Given the description of an element on the screen output the (x, y) to click on. 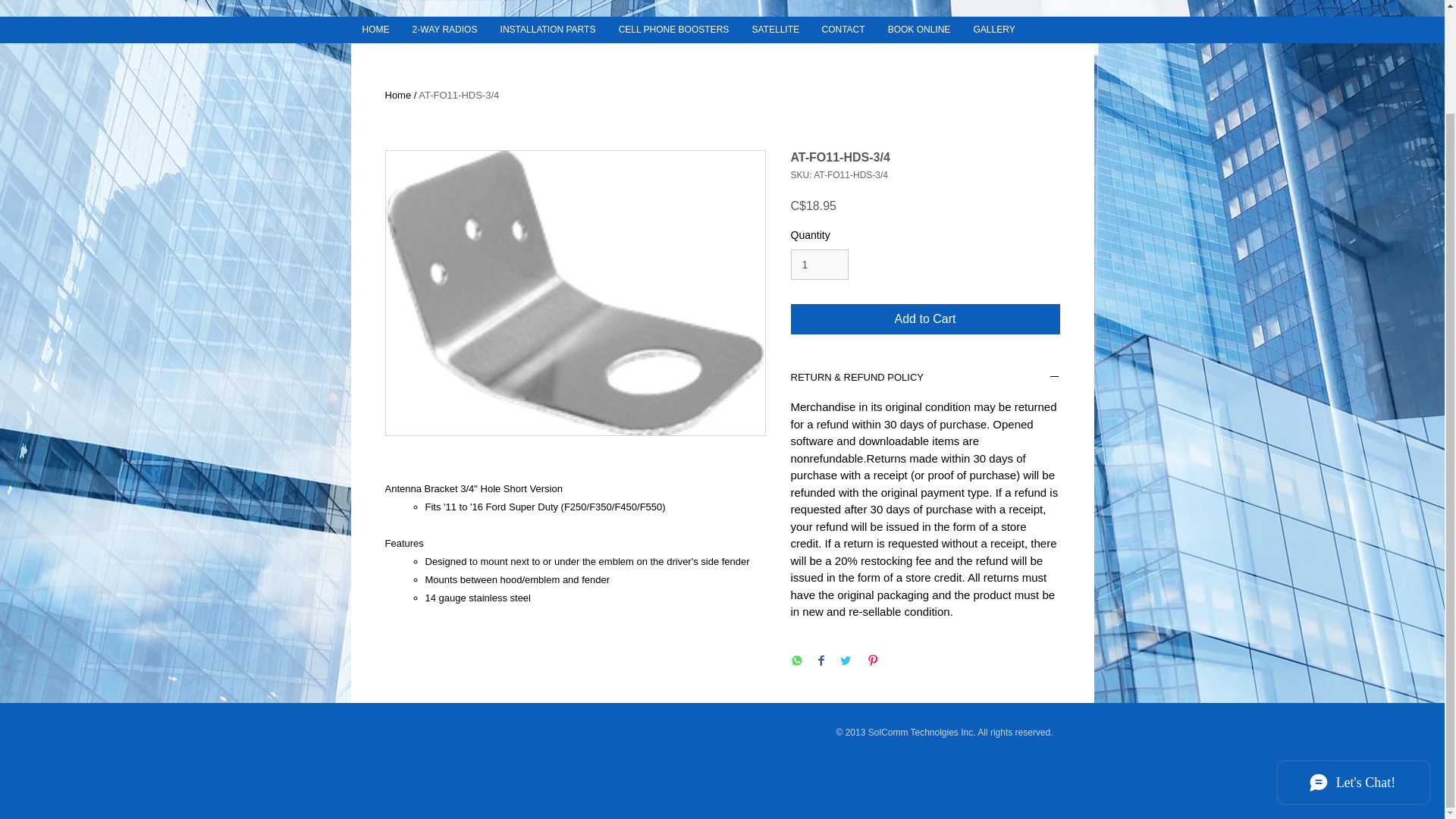
HOME (375, 29)
Home (398, 94)
INSTALLATION PARTS (547, 29)
CELL PHONE BOOSTERS (673, 29)
2-WAY RADIOS (443, 29)
Add to Cart (924, 318)
1 (818, 264)
BOOK ONLINE (919, 29)
GALLERY (993, 29)
CONTACT (842, 29)
